Given the description of an element on the screen output the (x, y) to click on. 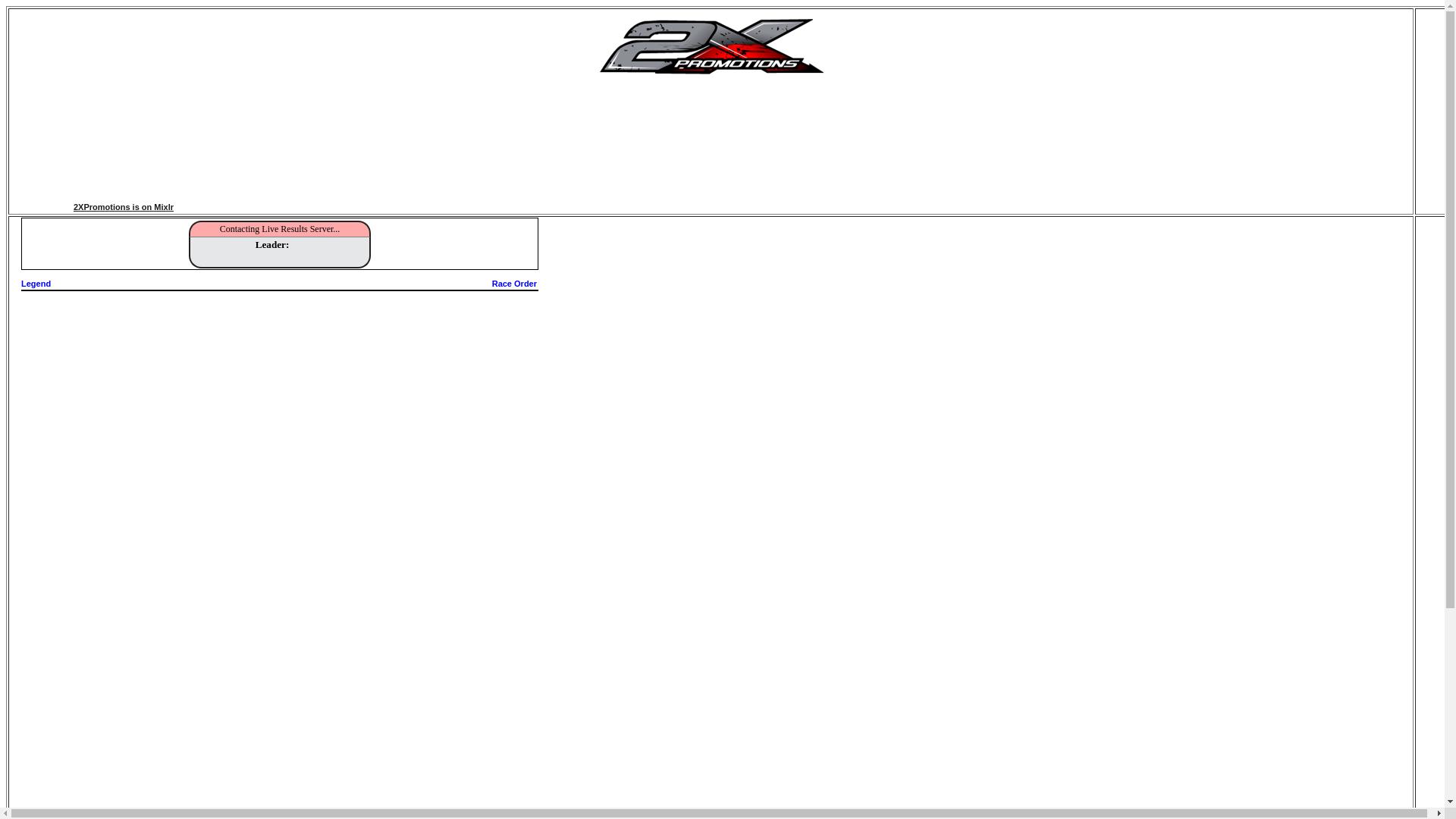
2X PROMOTIONS Element type: hover (711, 75)
2XPromotions is on Mixlr Element type: text (155, 213)
2X PROMOTIONS Element type: hover (711, 44)
